Given the description of an element on the screen output the (x, y) to click on. 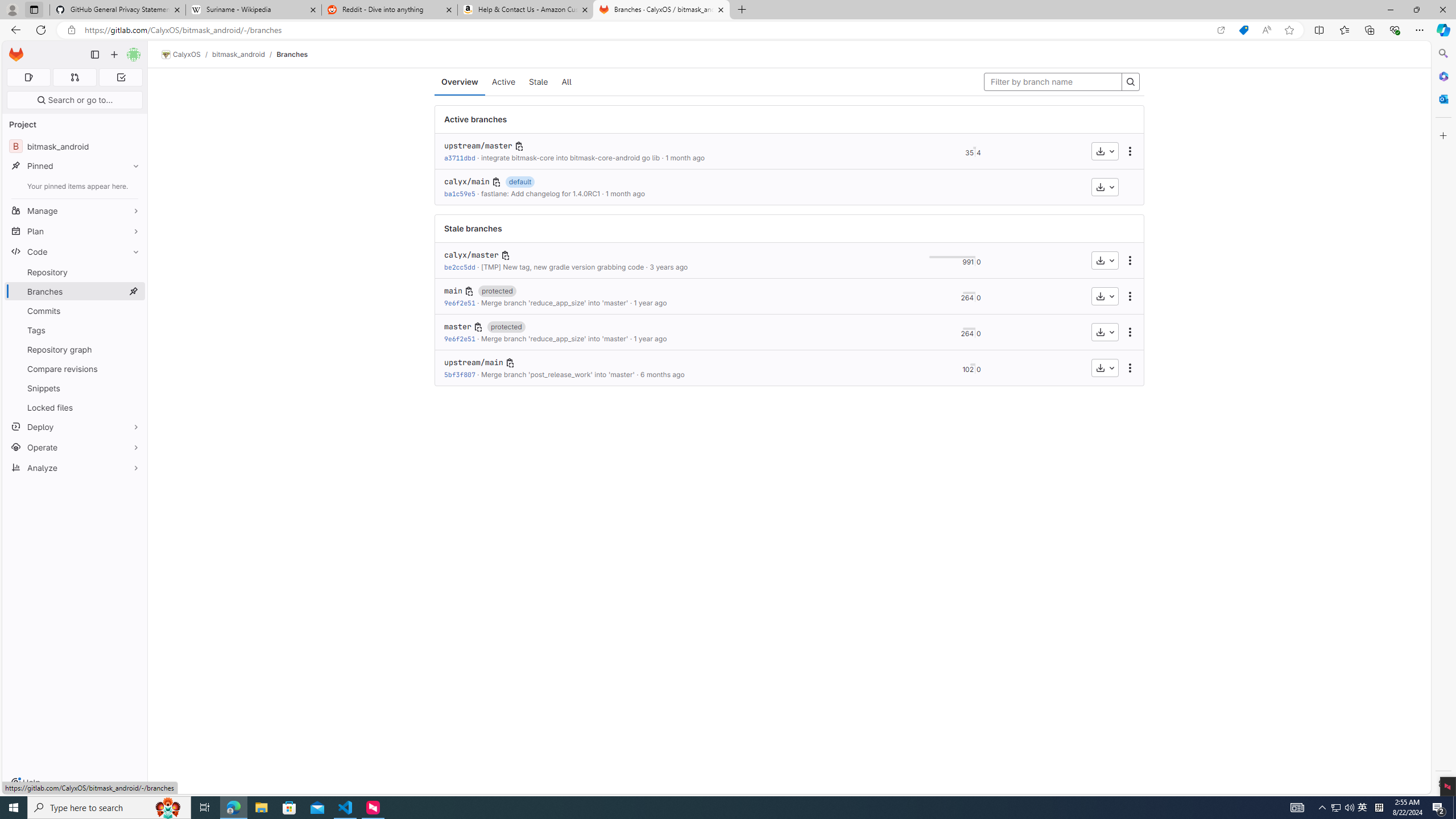
Suriname - Wikipedia (253, 9)
Manage (74, 210)
Plan (74, 230)
Repository (74, 271)
Refresh (40, 29)
Collections (1369, 29)
master (457, 326)
Help (25, 782)
CalyxOS/ (186, 54)
Tags (74, 330)
B bitmask_android (74, 145)
calyx/main (466, 181)
Close tab (720, 9)
Repository graph (74, 348)
